Given the description of an element on the screen output the (x, y) to click on. 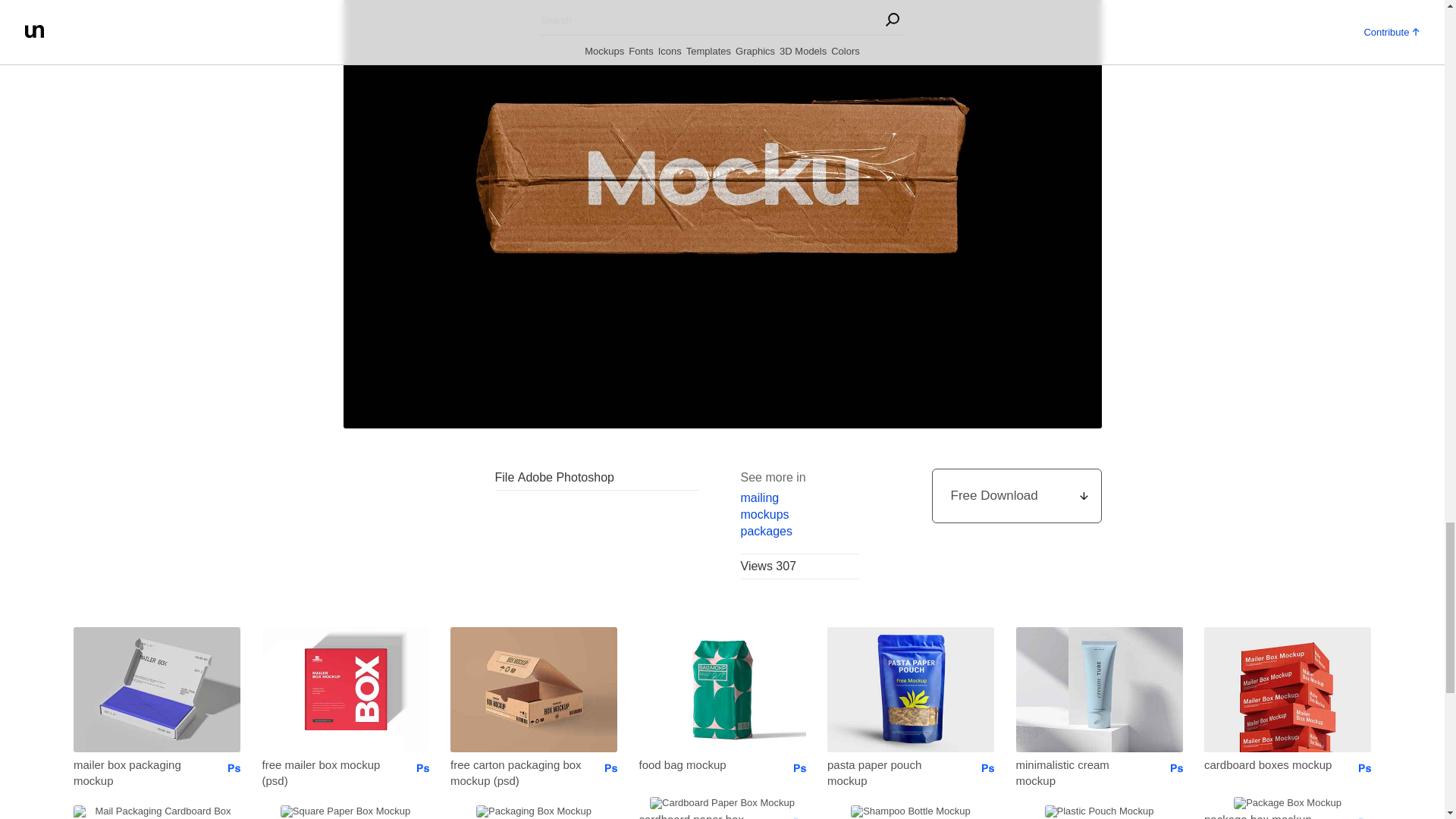
mailer box packaging mockup (140, 772)
packages (799, 531)
mailing (799, 497)
Free Download (1015, 495)
mockups (799, 514)
food bag mockup (705, 763)
